Given the description of an element on the screen output the (x, y) to click on. 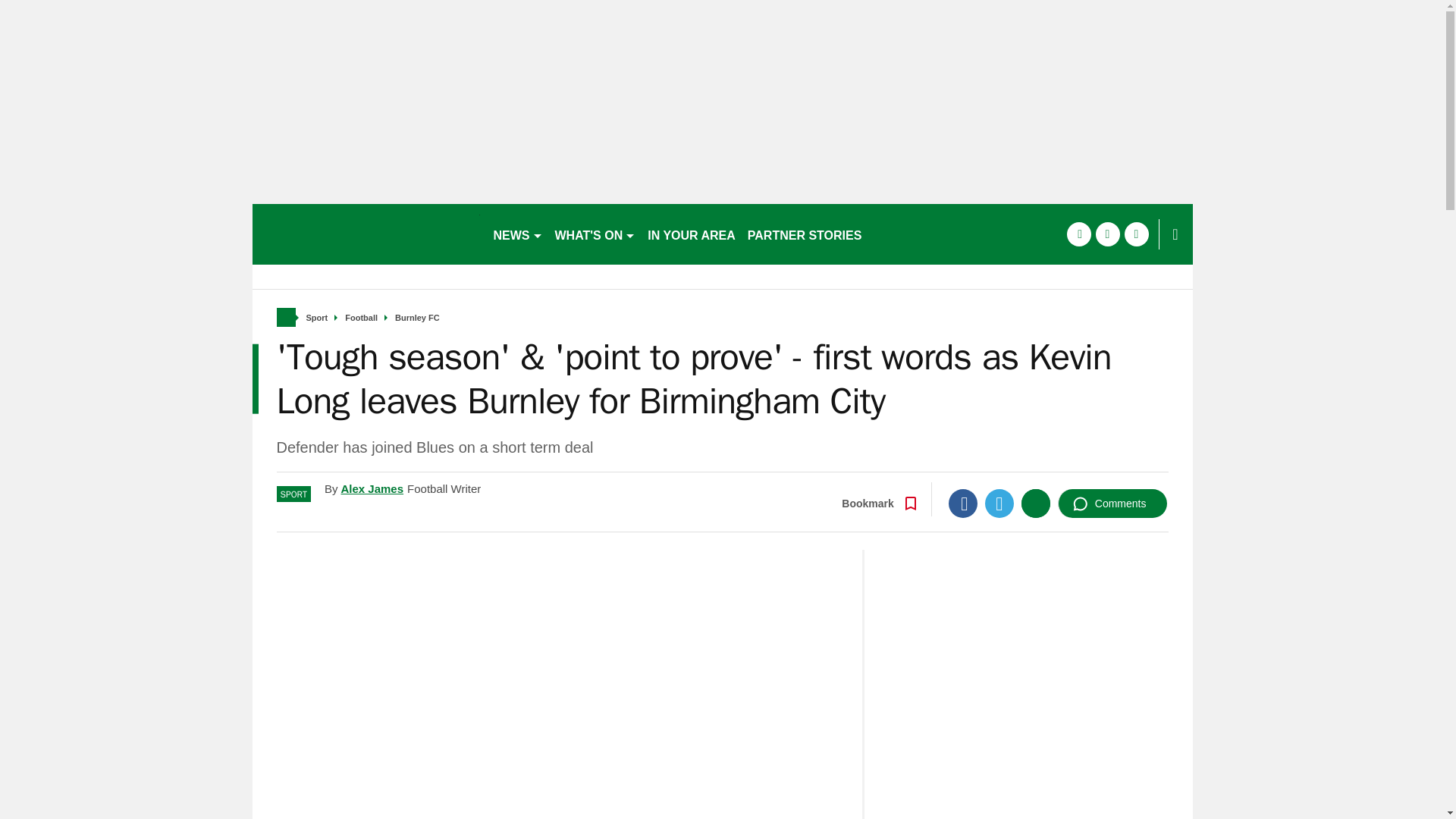
PARTNER STORIES (804, 233)
Twitter (999, 502)
instagram (1136, 233)
Comments (1112, 502)
IN YOUR AREA (691, 233)
WHAT'S ON (595, 233)
facebook (1077, 233)
Facebook (962, 502)
NEWS (517, 233)
accrington (365, 233)
